Given the description of an element on the screen output the (x, y) to click on. 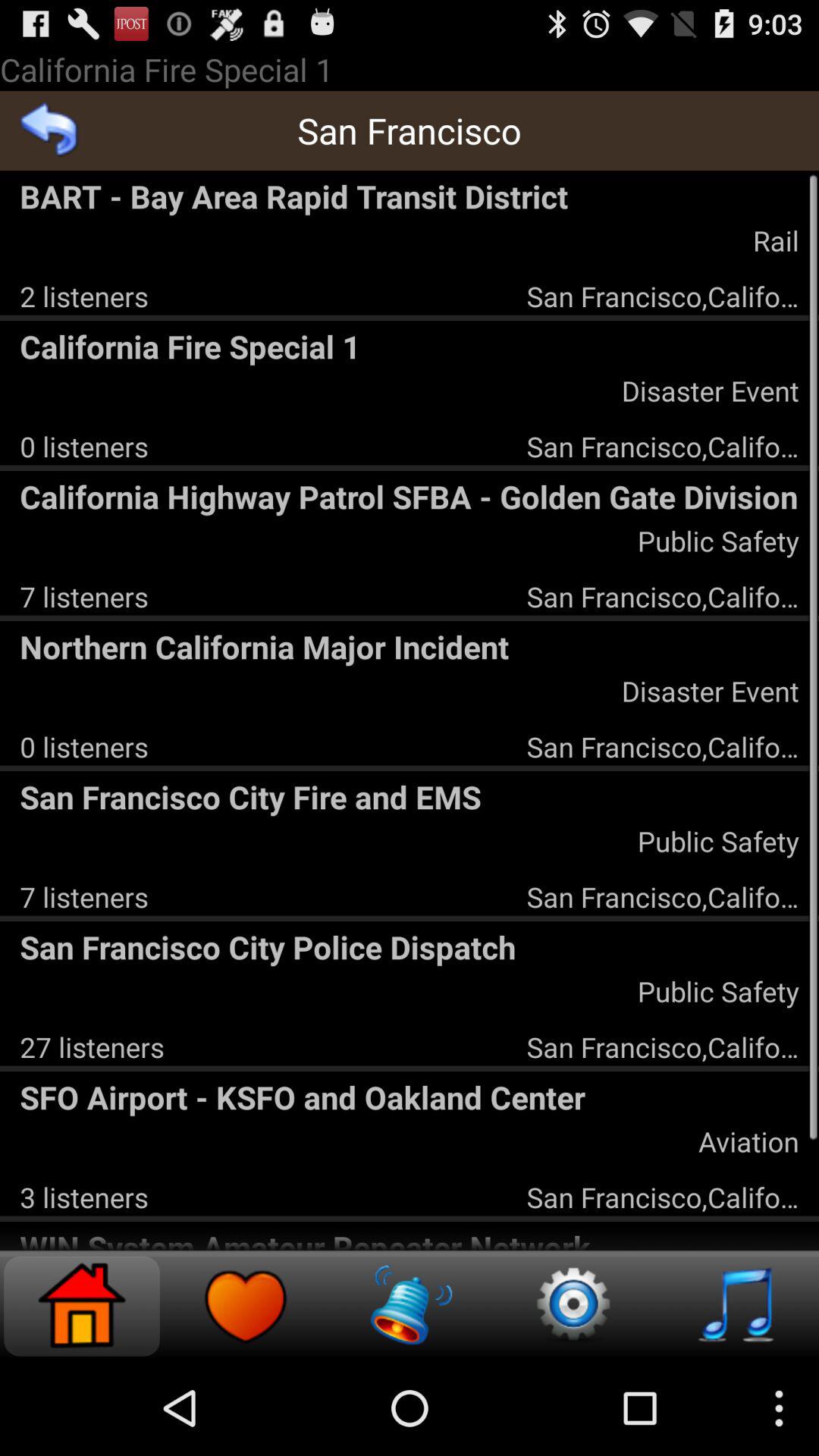
launch icon below the sfo airport ksfo icon (83, 1196)
